Given the description of an element on the screen output the (x, y) to click on. 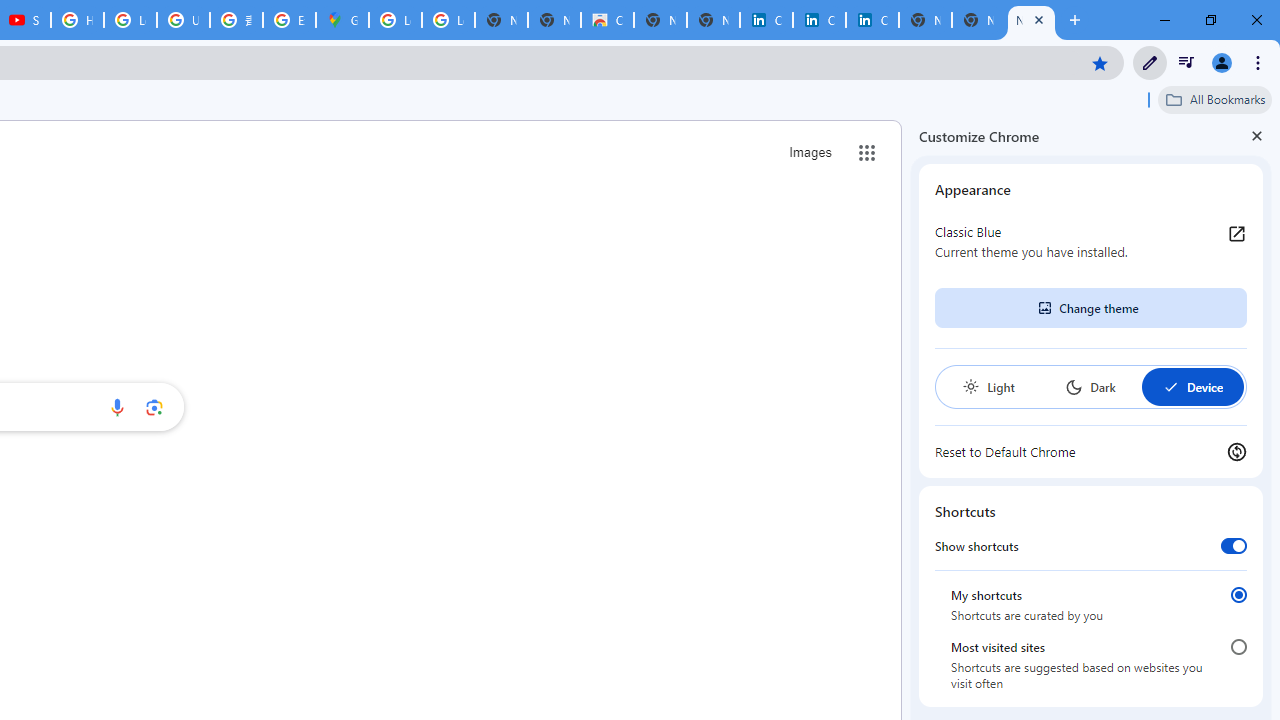
Google Maps (342, 20)
Reset to Default Chrome (1091, 452)
Chrome Web Store (607, 20)
